Given the description of an element on the screen output the (x, y) to click on. 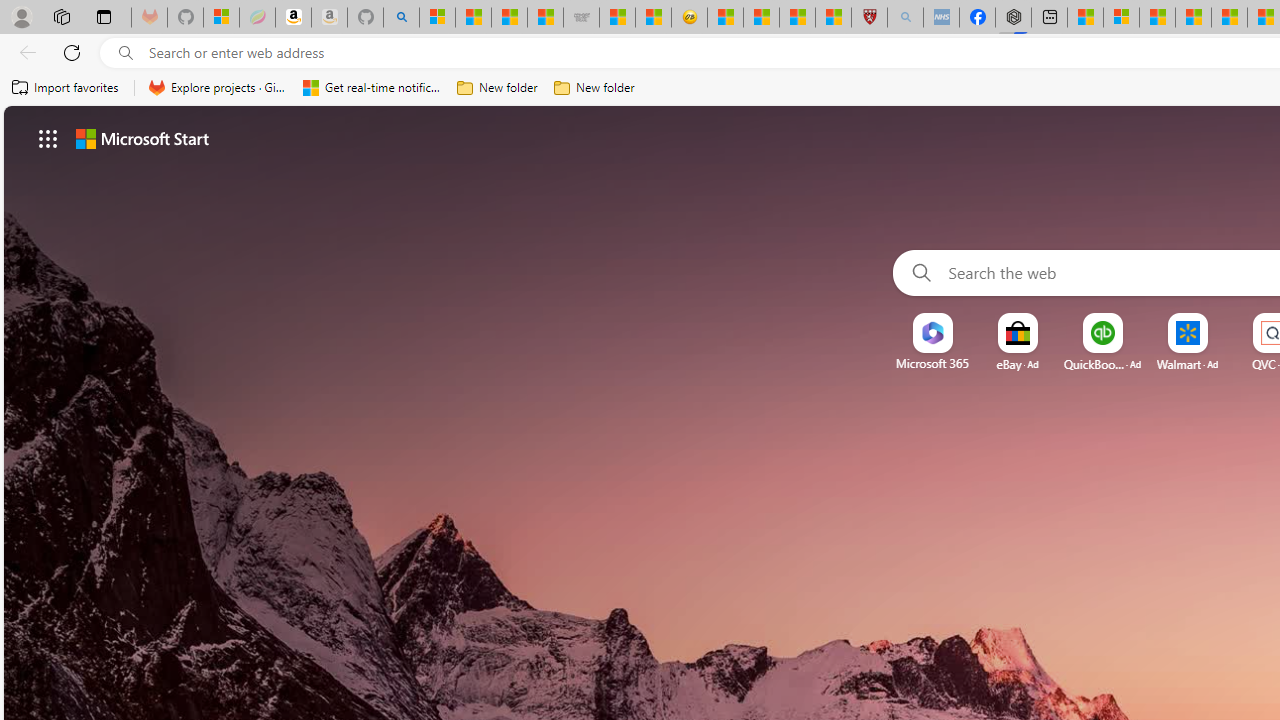
App launcher (47, 138)
Robert H. Shmerling, MD - Harvard Health (869, 17)
Microsoft start (142, 138)
